Given the description of an element on the screen output the (x, y) to click on. 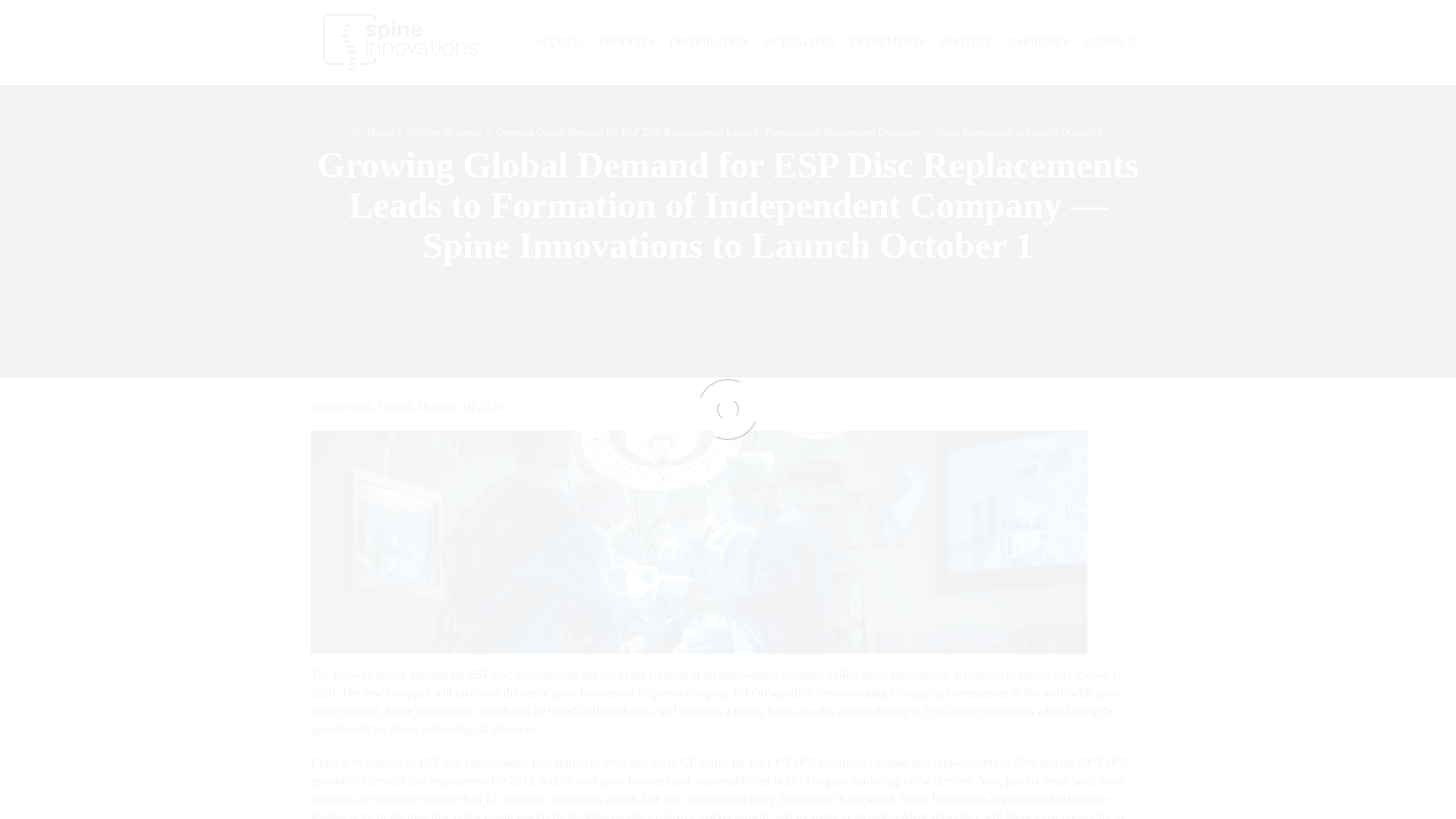
DISTRIBUTION (709, 41)
Articles de presse (443, 132)
Spine Innovations (400, 41)
Home (372, 132)
Languages (1429, 40)
Search (1391, 40)
